Given the description of an element on the screen output the (x, y) to click on. 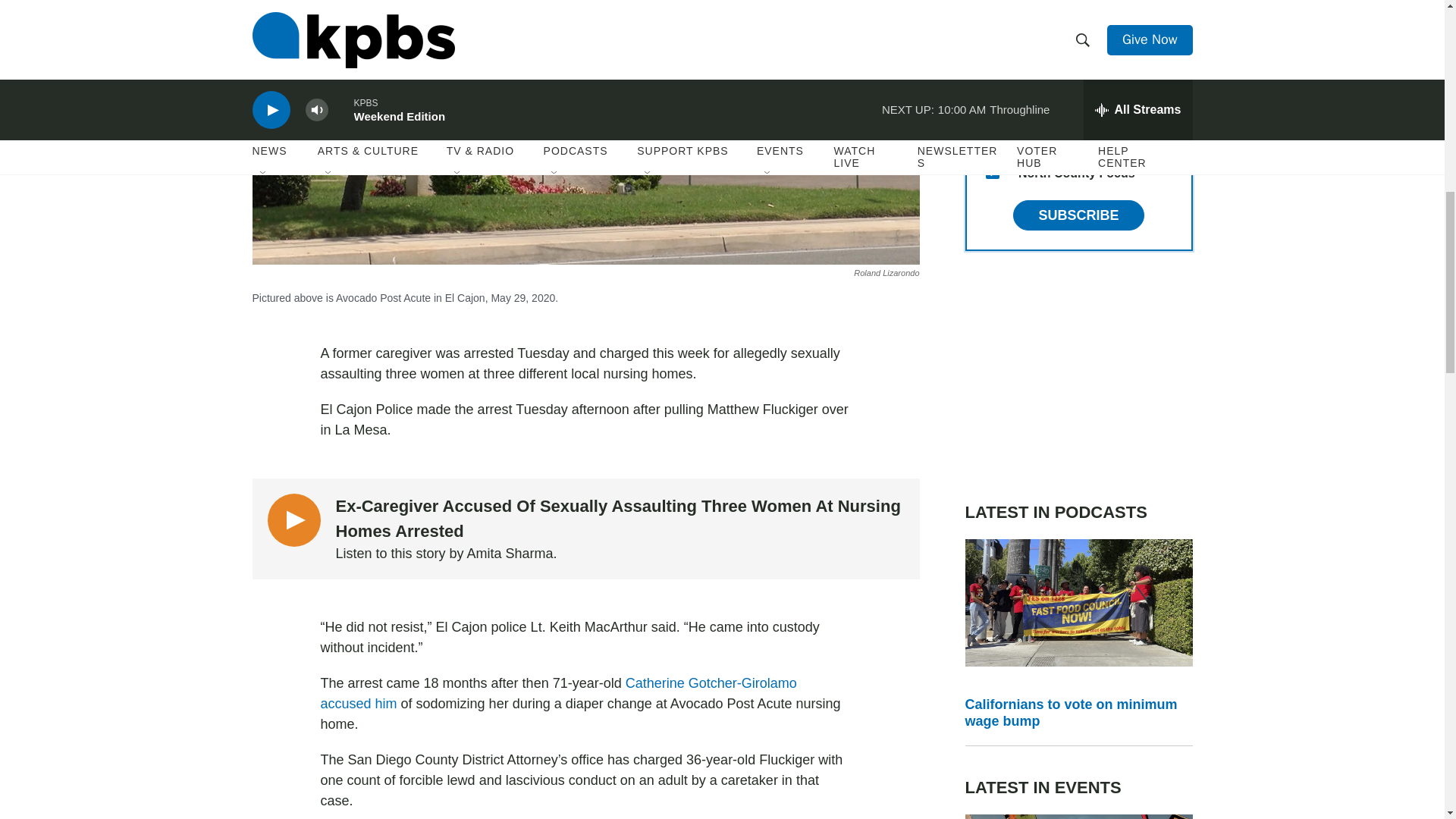
2 (991, 62)
15 (991, 172)
8 (991, 135)
6 (991, 26)
1 (991, 99)
